Given the description of an element on the screen output the (x, y) to click on. 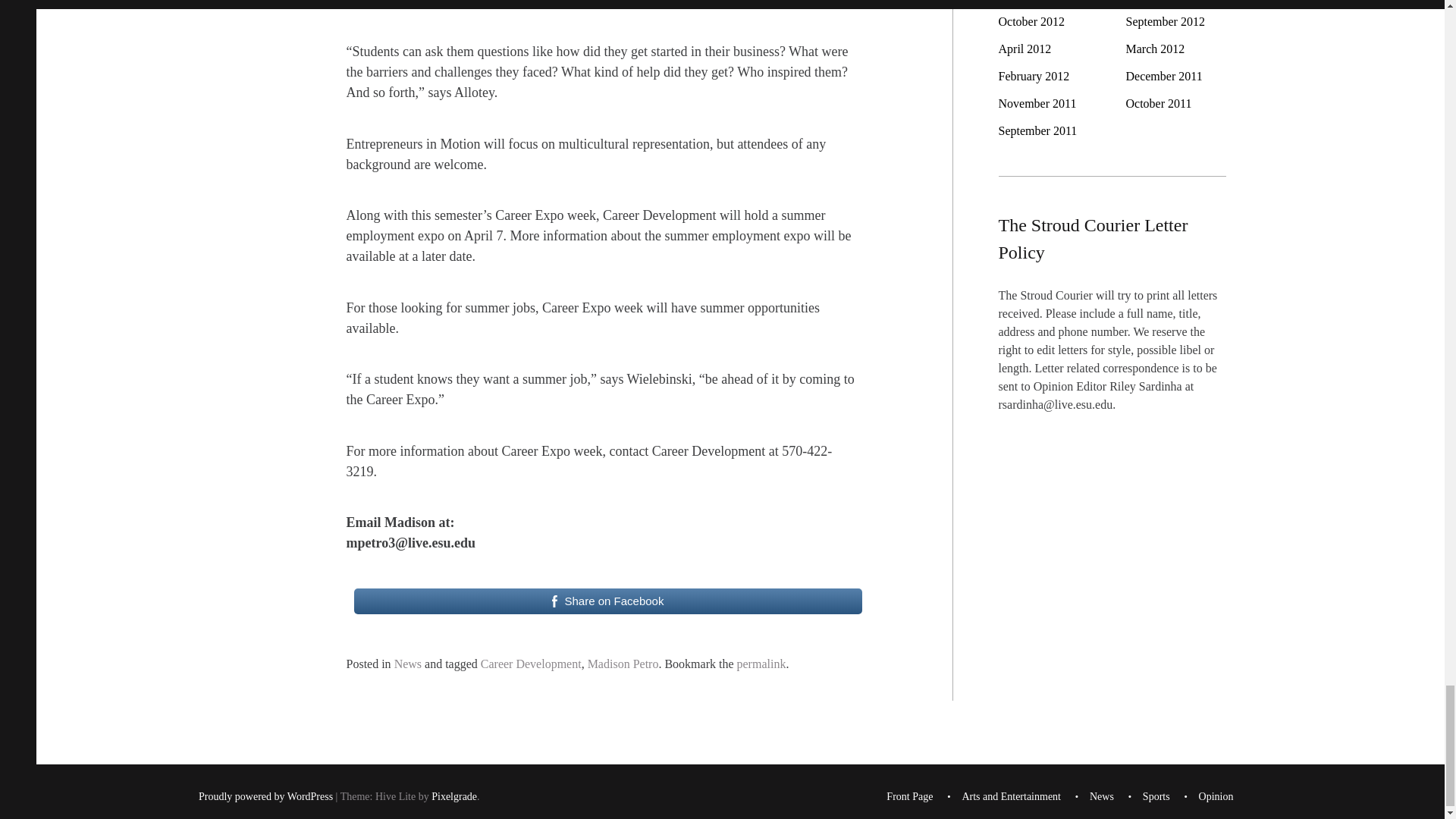
Share on Facebook (607, 601)
News (408, 663)
permalink (761, 663)
The Pixelgrade Website (453, 797)
Madison Petro (623, 663)
Career Development (530, 663)
